Given the description of an element on the screen output the (x, y) to click on. 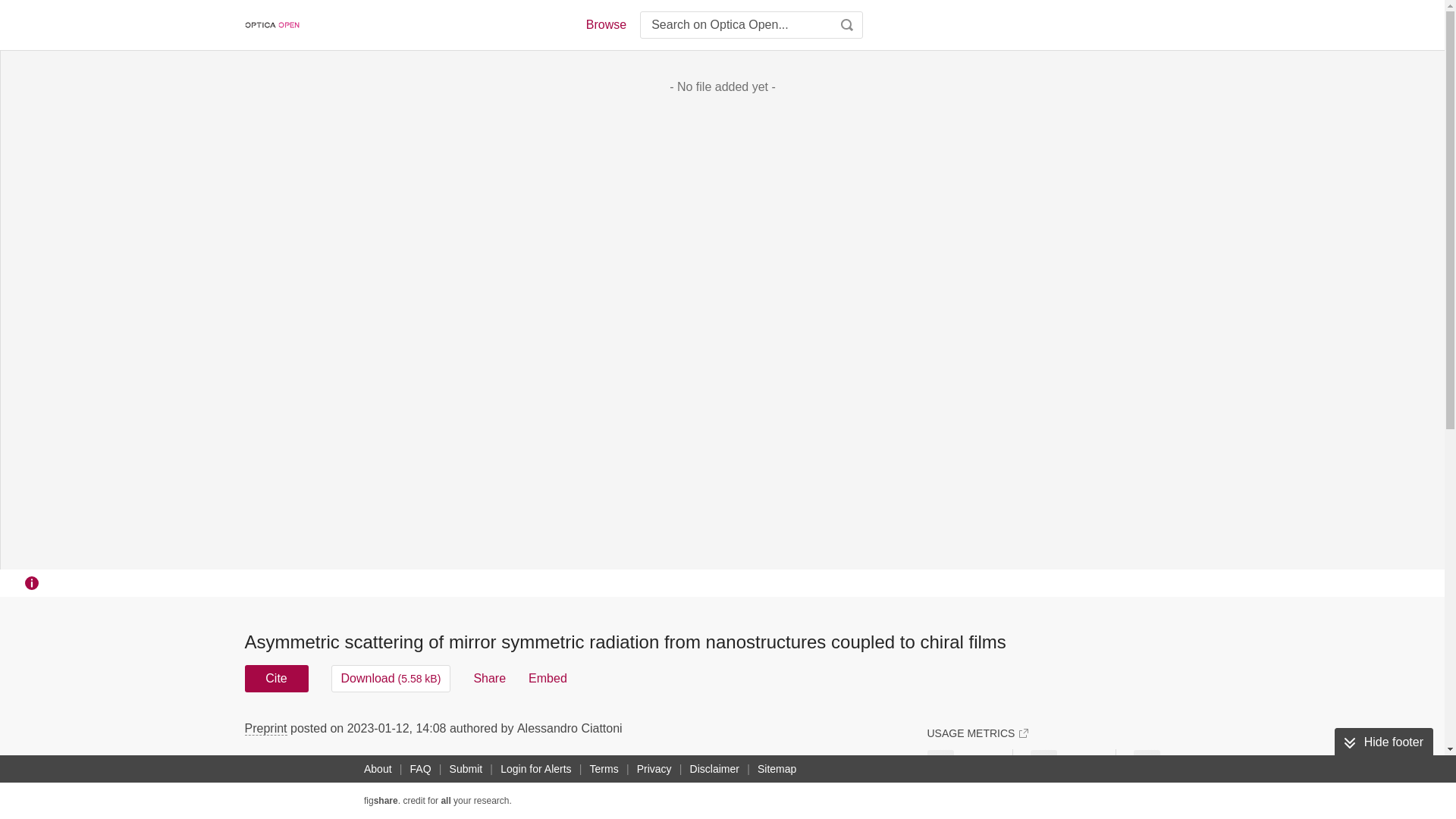
Cite (275, 678)
Sitemap (776, 769)
Disclaimer (714, 769)
Submit (466, 769)
Hide footer (1383, 742)
Terms (604, 769)
USAGE METRICS (976, 732)
Embed (547, 678)
About (377, 769)
Browse (605, 24)
Share (489, 678)
Login for Alerts (535, 769)
Privacy (654, 769)
FAQ (420, 769)
